Given the description of an element on the screen output the (x, y) to click on. 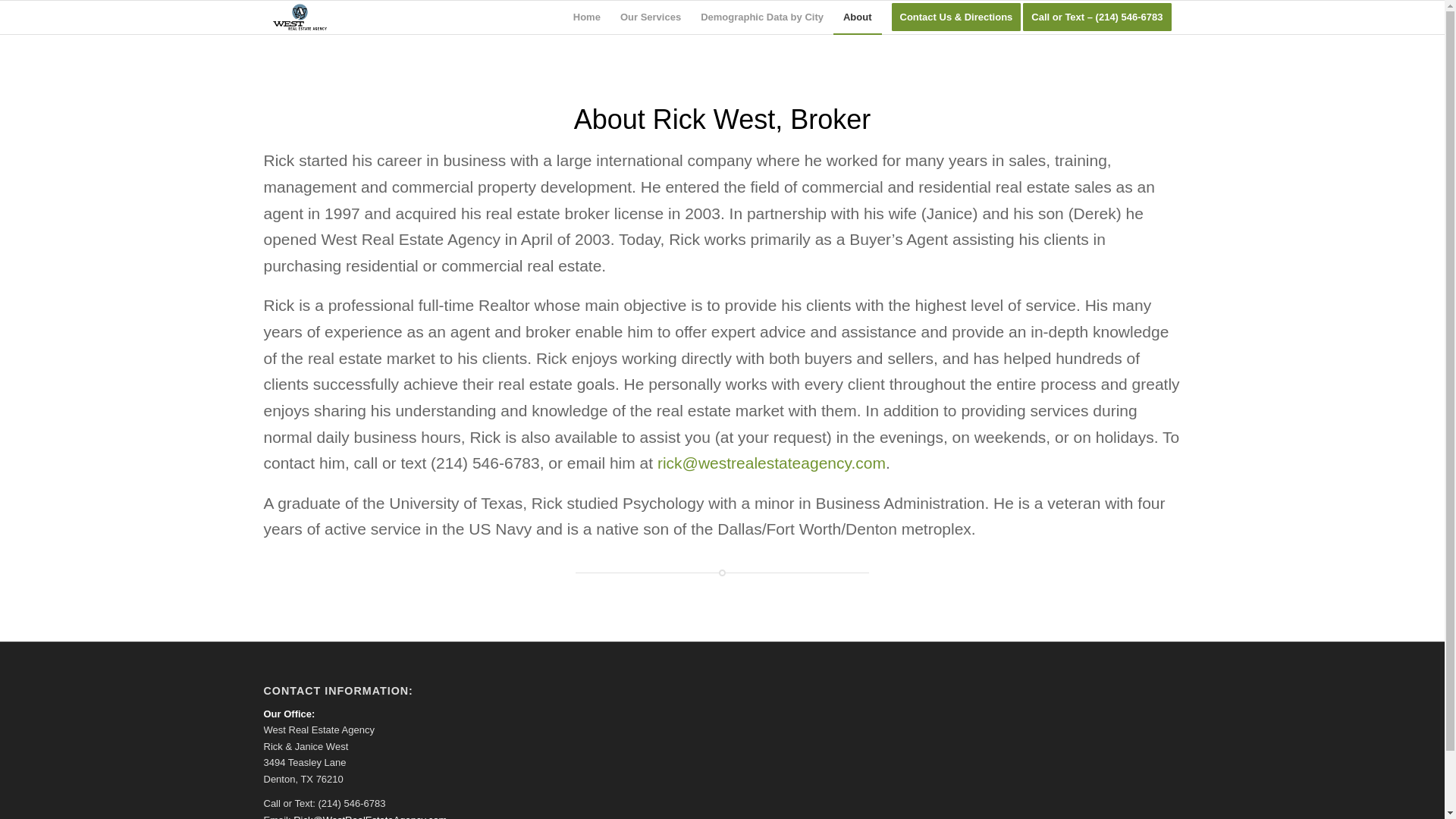
Our Services (650, 17)
Home (586, 17)
About (857, 17)
Demographic Data by City (761, 17)
